Given the description of an element on the screen output the (x, y) to click on. 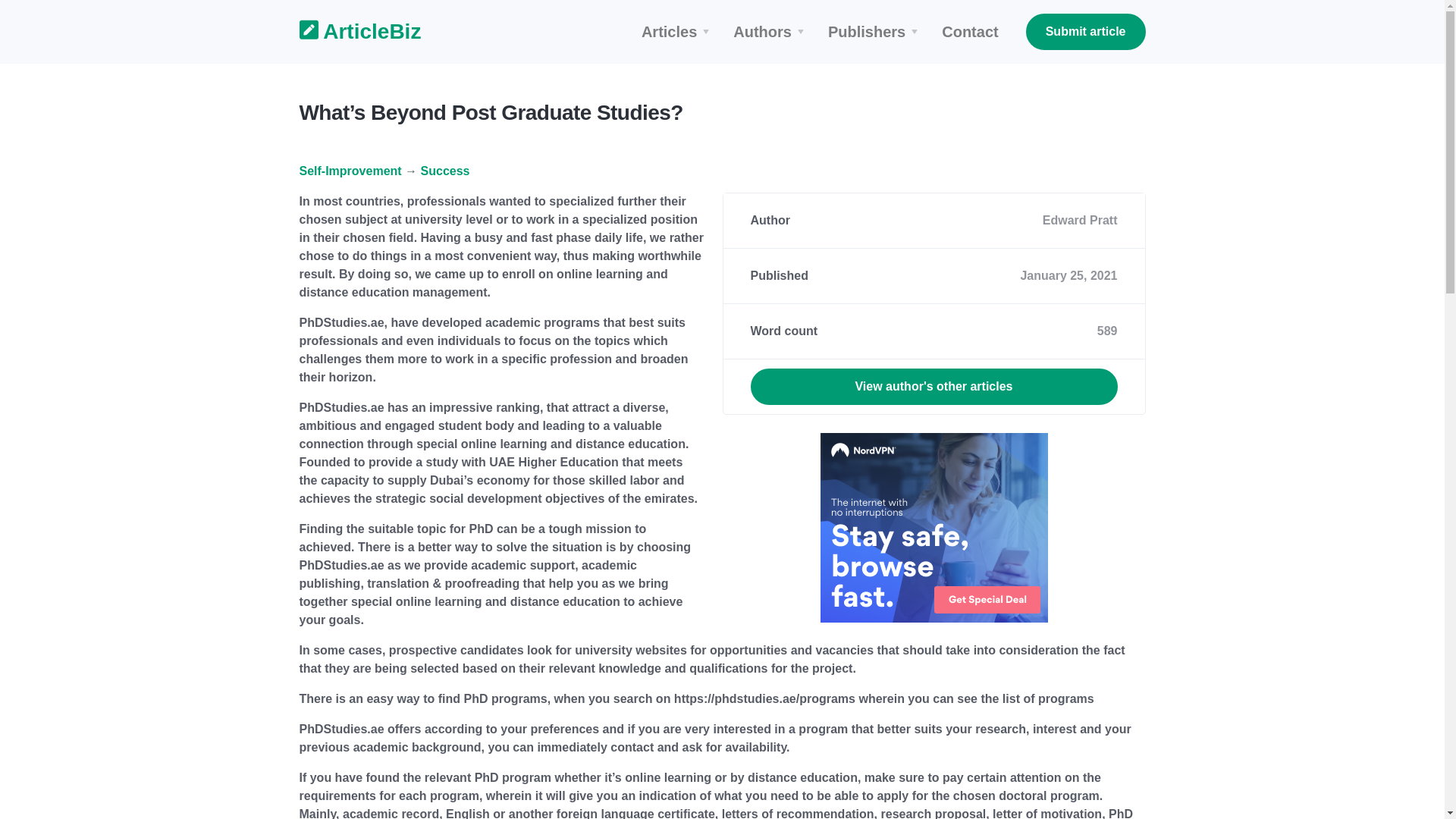
Contact (970, 31)
Publishers (875, 31)
ArticleBiz (349, 31)
Success (445, 170)
Self-Improvement (349, 170)
Articles (677, 31)
Authors (770, 31)
View author's other articles (934, 386)
Submit article (1085, 31)
